Given the description of an element on the screen output the (x, y) to click on. 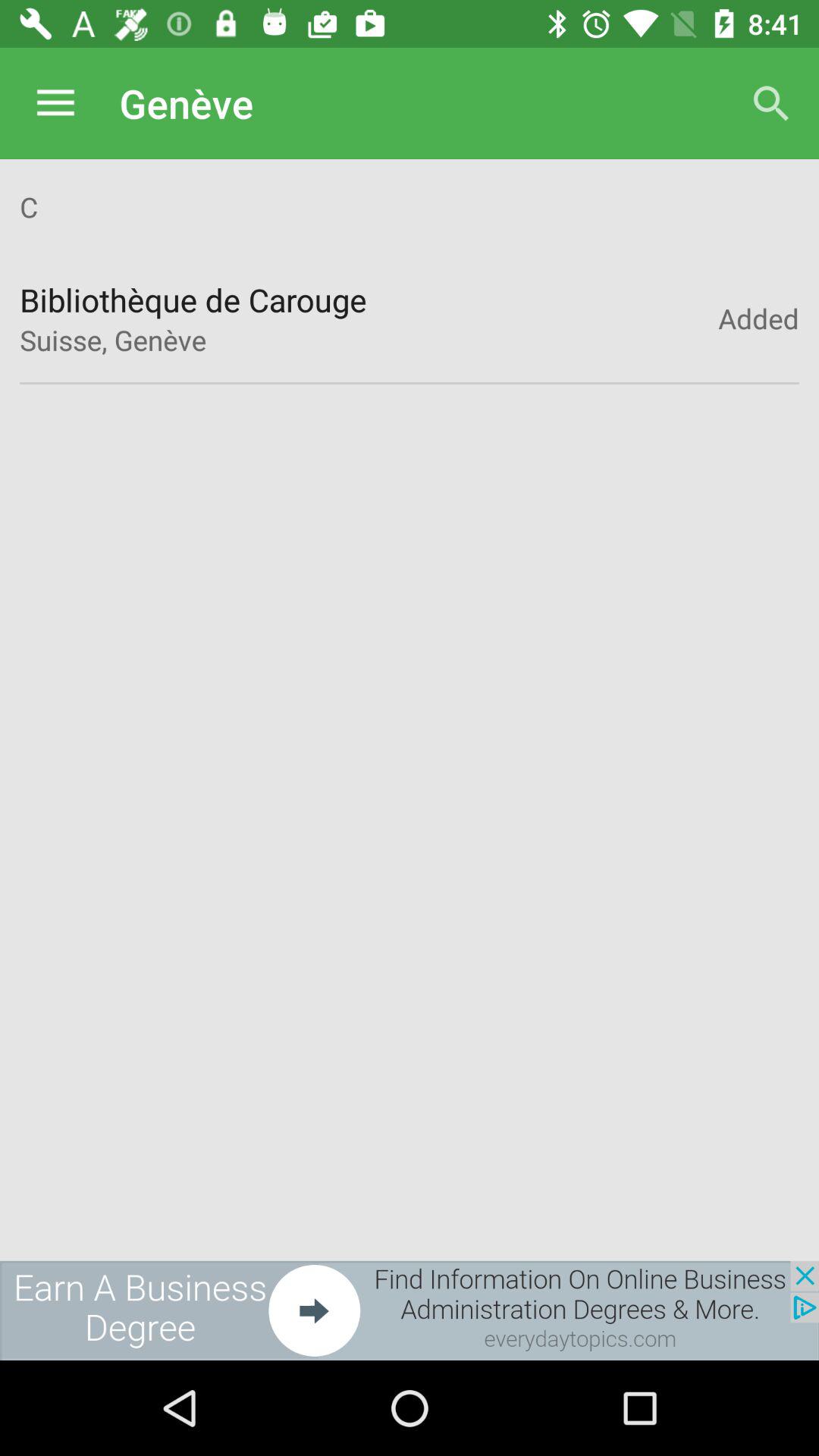
go to this website (409, 1310)
